Given the description of an element on the screen output the (x, y) to click on. 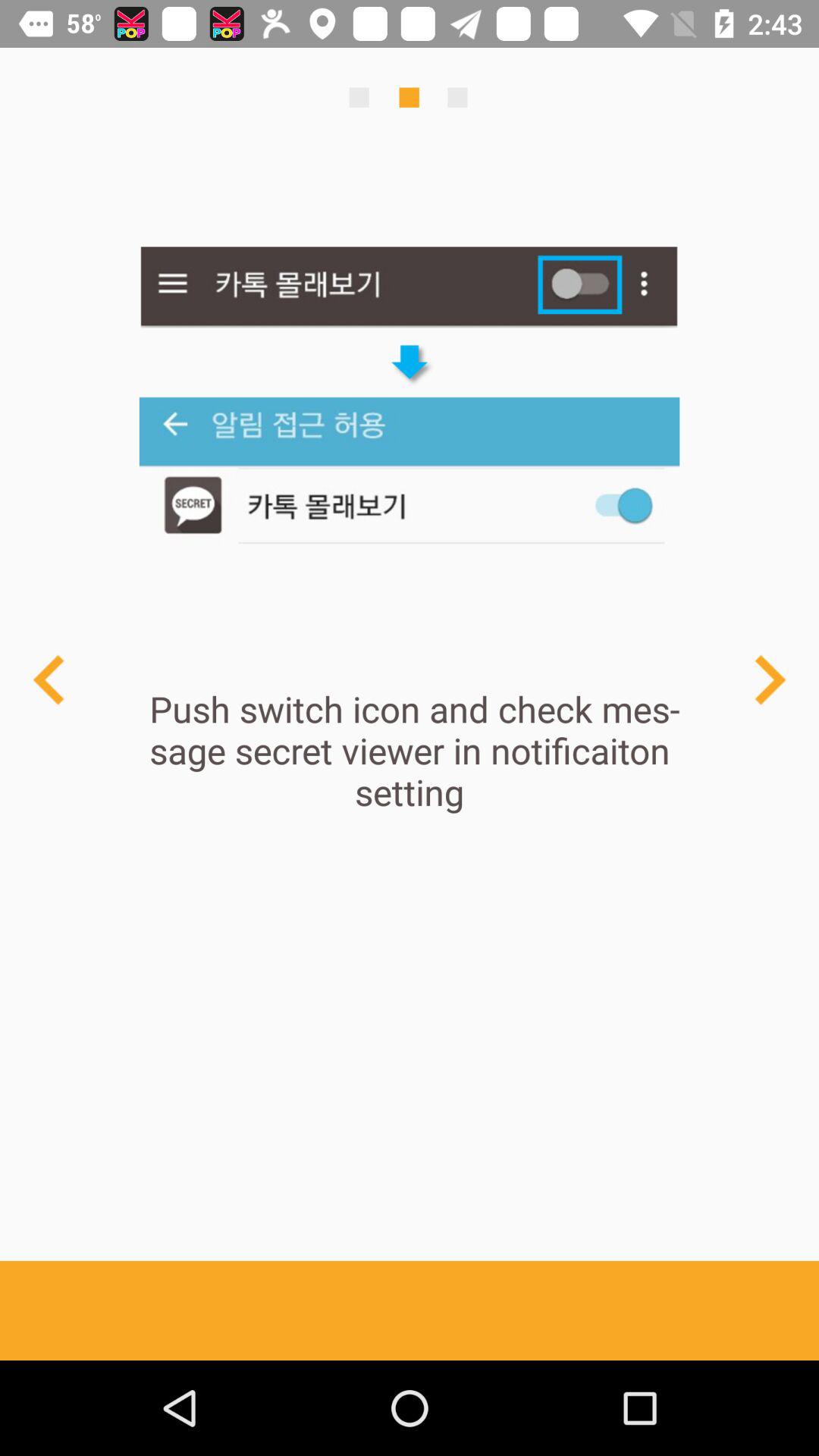
next (769, 679)
